Given the description of an element on the screen output the (x, y) to click on. 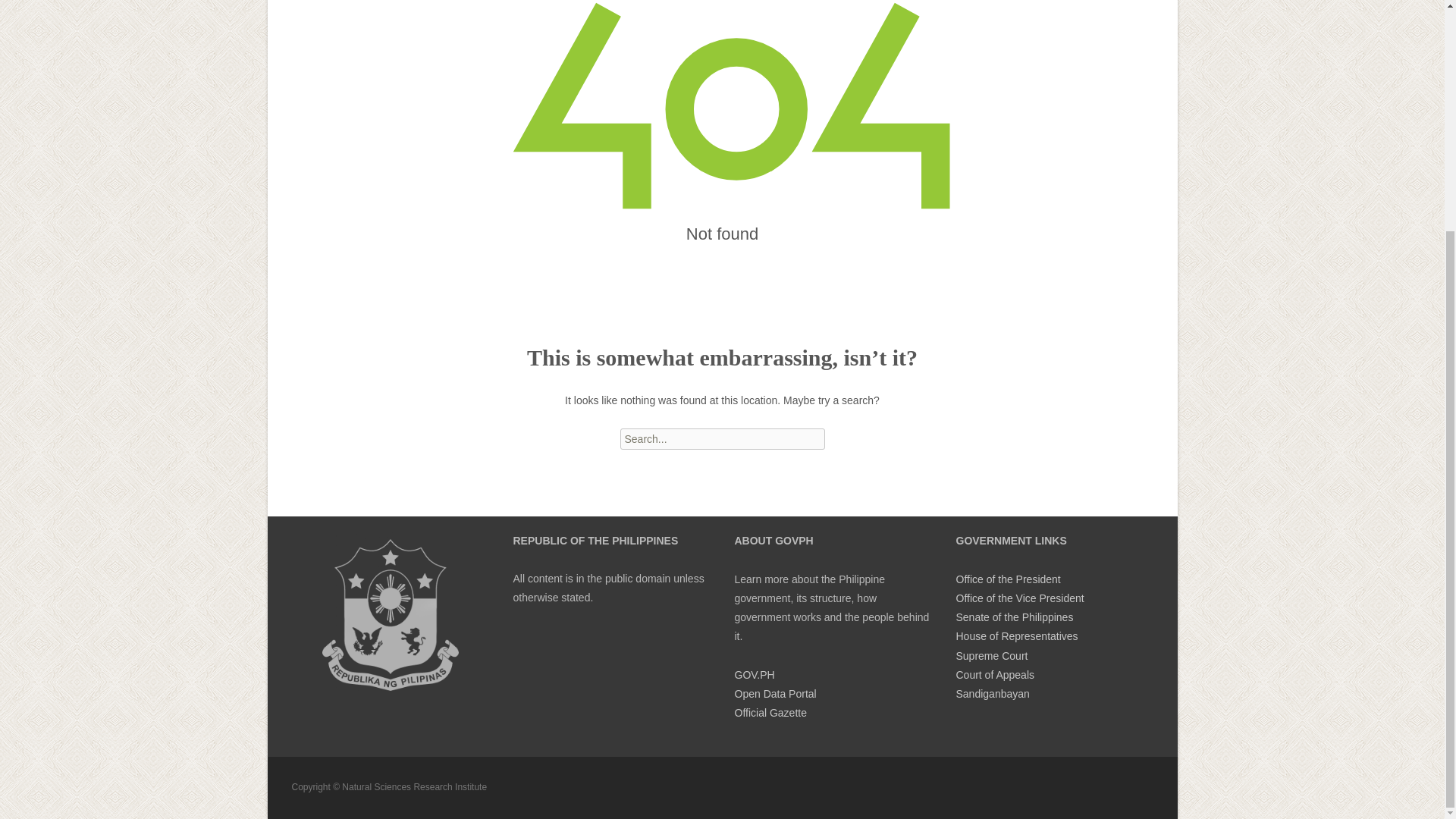
House of Representatives (1016, 635)
Court of Appeals (994, 674)
Senate of the Philippines (1014, 616)
Official Gazette (769, 712)
Office of the Vice President (1019, 598)
Sandiganbayan (992, 693)
Open Data Portal (774, 693)
Supreme Court (991, 655)
Office of the President (1007, 579)
GOV.PH (753, 674)
